Given the description of an element on the screen output the (x, y) to click on. 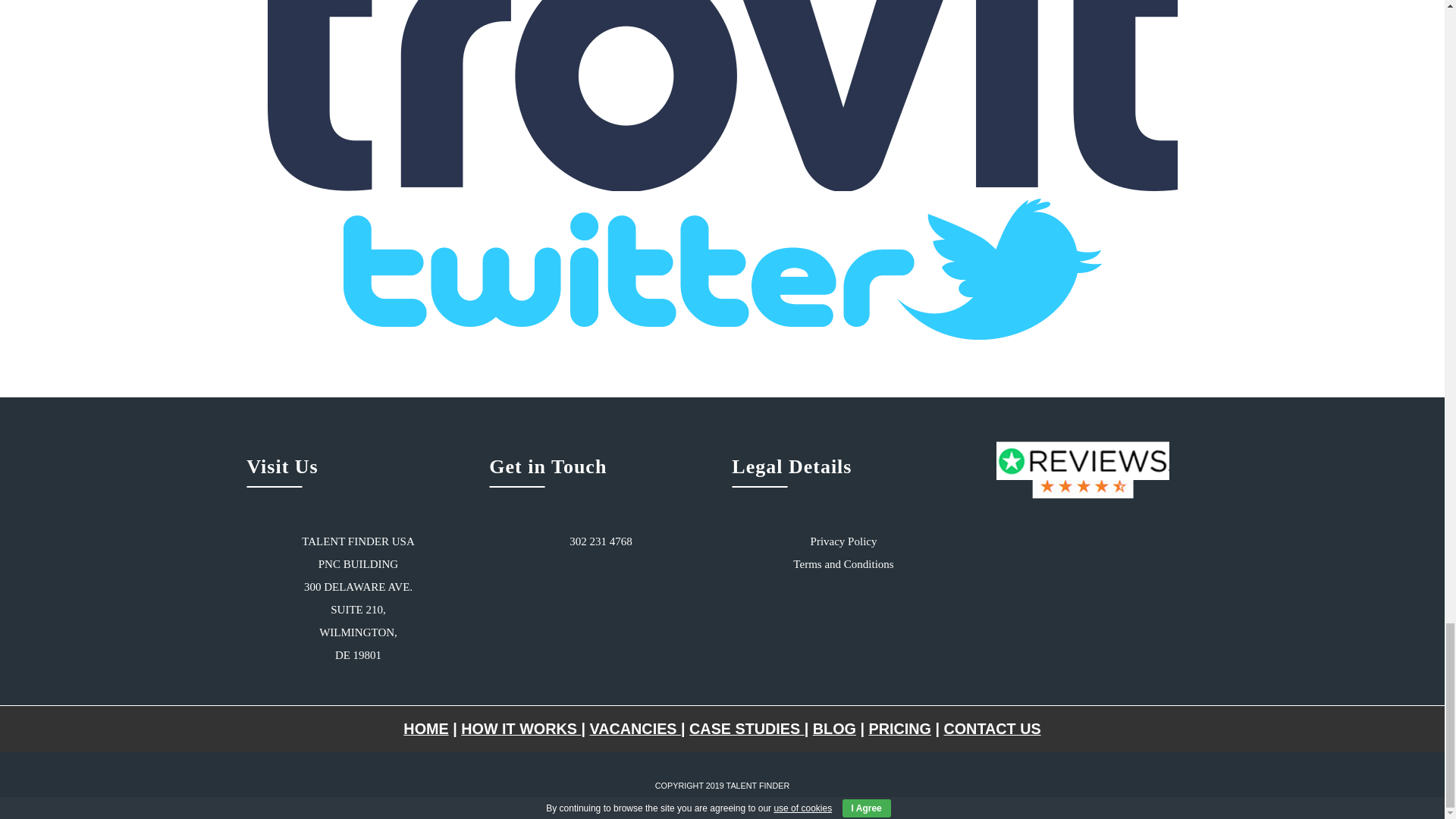
Privacy Policy (843, 541)
Terms and Conditions (843, 563)
CONTACT US (992, 728)
PRICING (898, 728)
HOME (425, 728)
CASE STUDIES (746, 728)
HOW IT WORKS (520, 728)
BLOG (834, 728)
VACANCIES (635, 728)
302 231 4768 (600, 541)
